Given the description of an element on the screen output the (x, y) to click on. 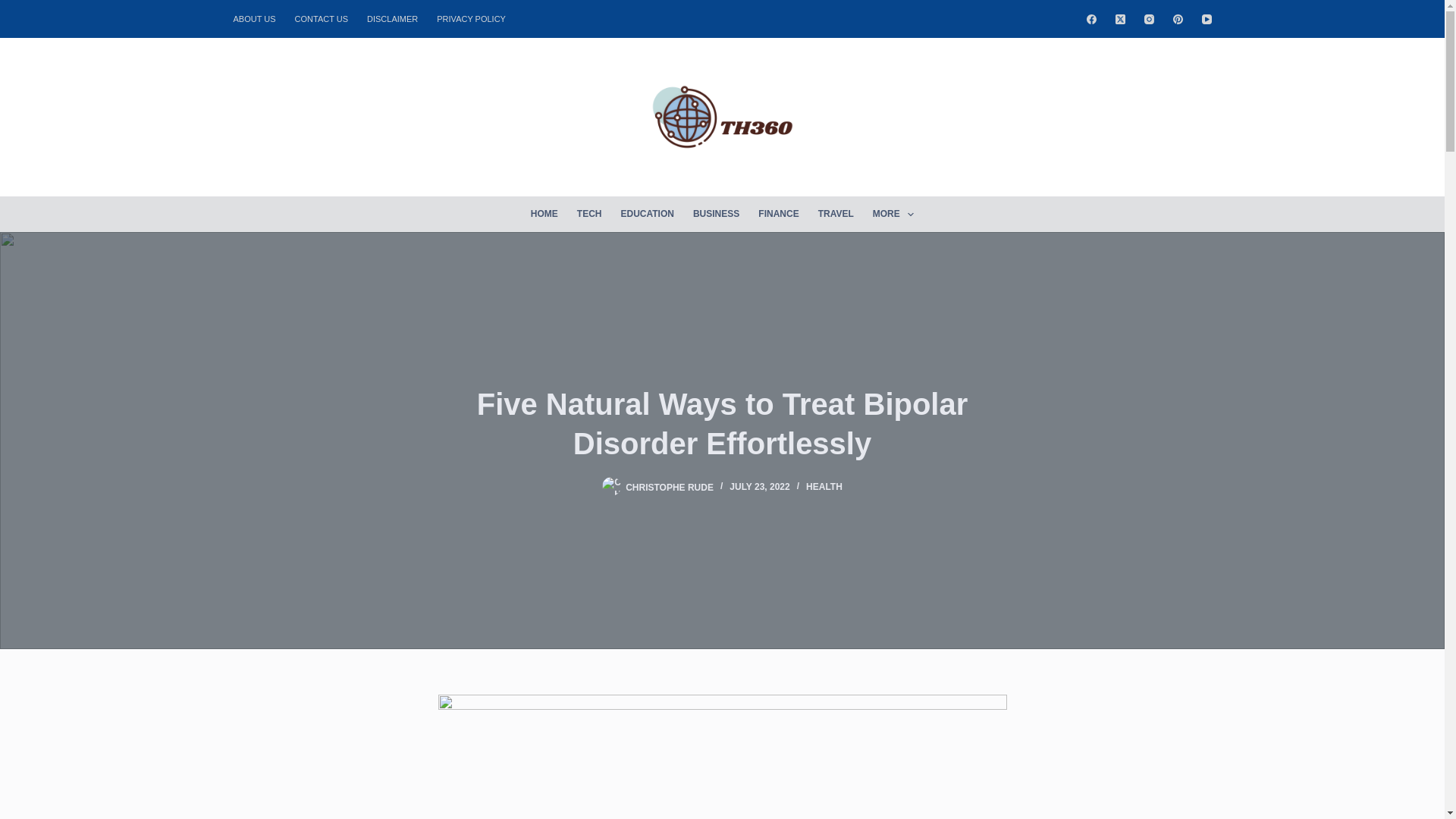
BUSINESS (715, 213)
EDUCATION (646, 213)
CONTACT US (321, 18)
DISCLAIMER (393, 18)
FINANCE (778, 213)
Five Natural Ways to Treat Bipolar Disorder Effortlessly (722, 423)
TECH (589, 213)
HOME (544, 213)
Skip to content (15, 7)
PRIVACY POLICY (471, 18)
